Given the description of an element on the screen output the (x, y) to click on. 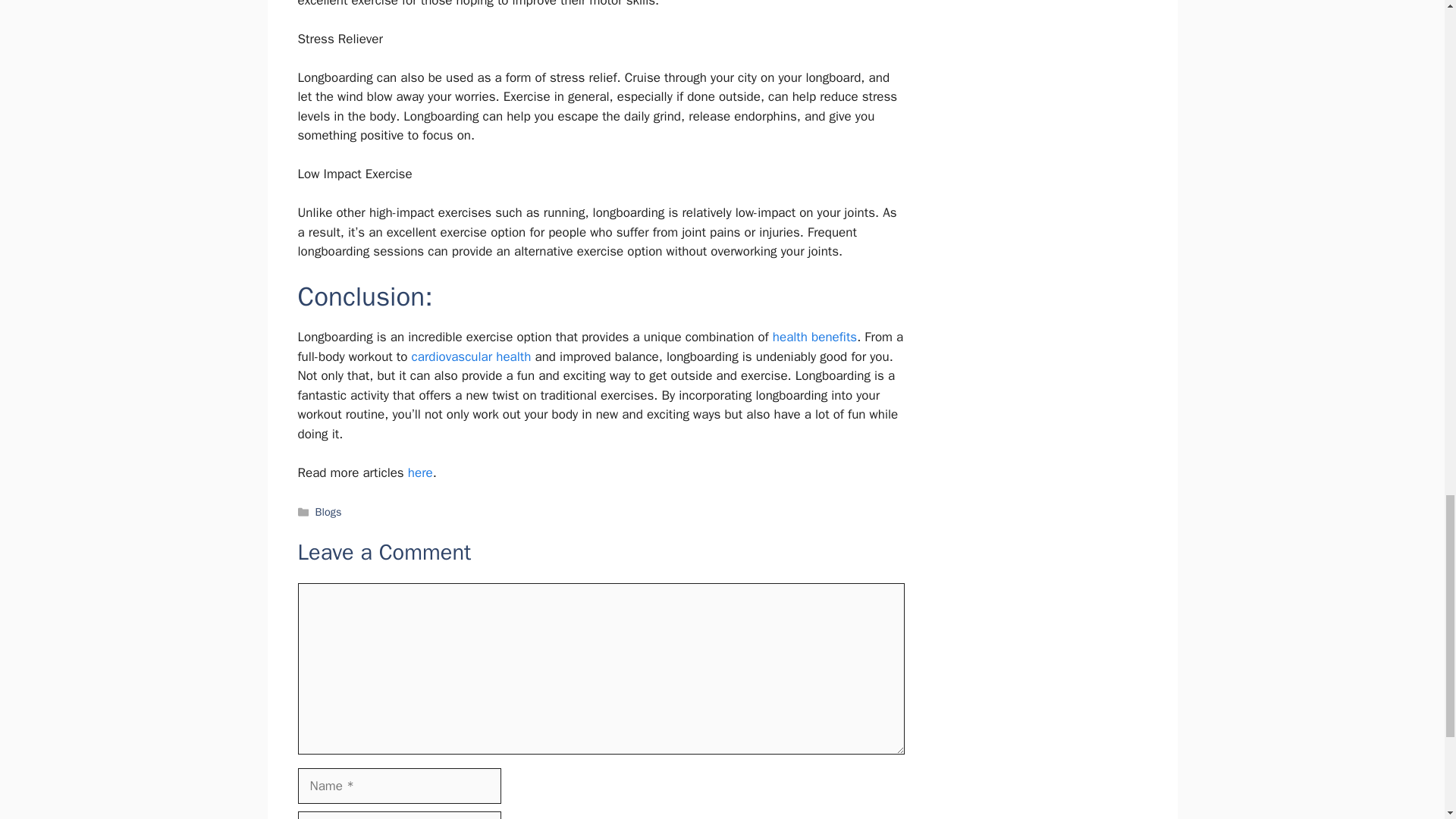
Blogs (328, 511)
cardiovascular health (471, 356)
health benefits (815, 336)
here (419, 472)
